Given the description of an element on the screen output the (x, y) to click on. 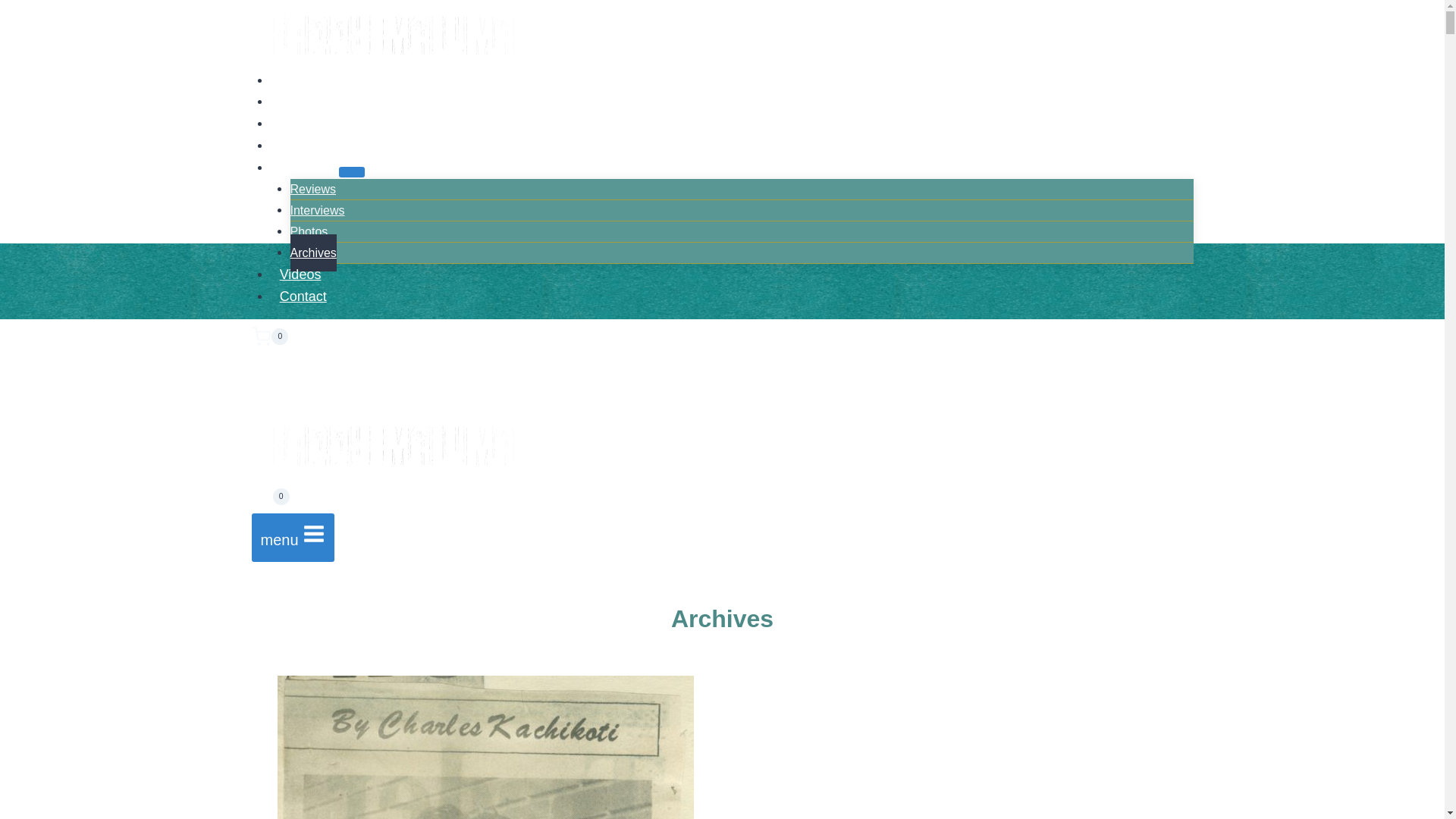
0 Element type: text (270, 499)
menu Element type: text (293, 537)
Shop Element type: text (295, 145)
Archives Element type: text (312, 252)
Home Element type: text (297, 79)
Media Element type: text (304, 167)
Interviews Element type: text (316, 210)
Photos Element type: text (308, 231)
Reviews Element type: text (312, 188)
0 Element type: text (722, 336)
About Element type: text (296, 101)
Videos Element type: text (299, 274)
The Music Element type: text (310, 123)
Contact Element type: text (302, 296)
